Given the description of an element on the screen output the (x, y) to click on. 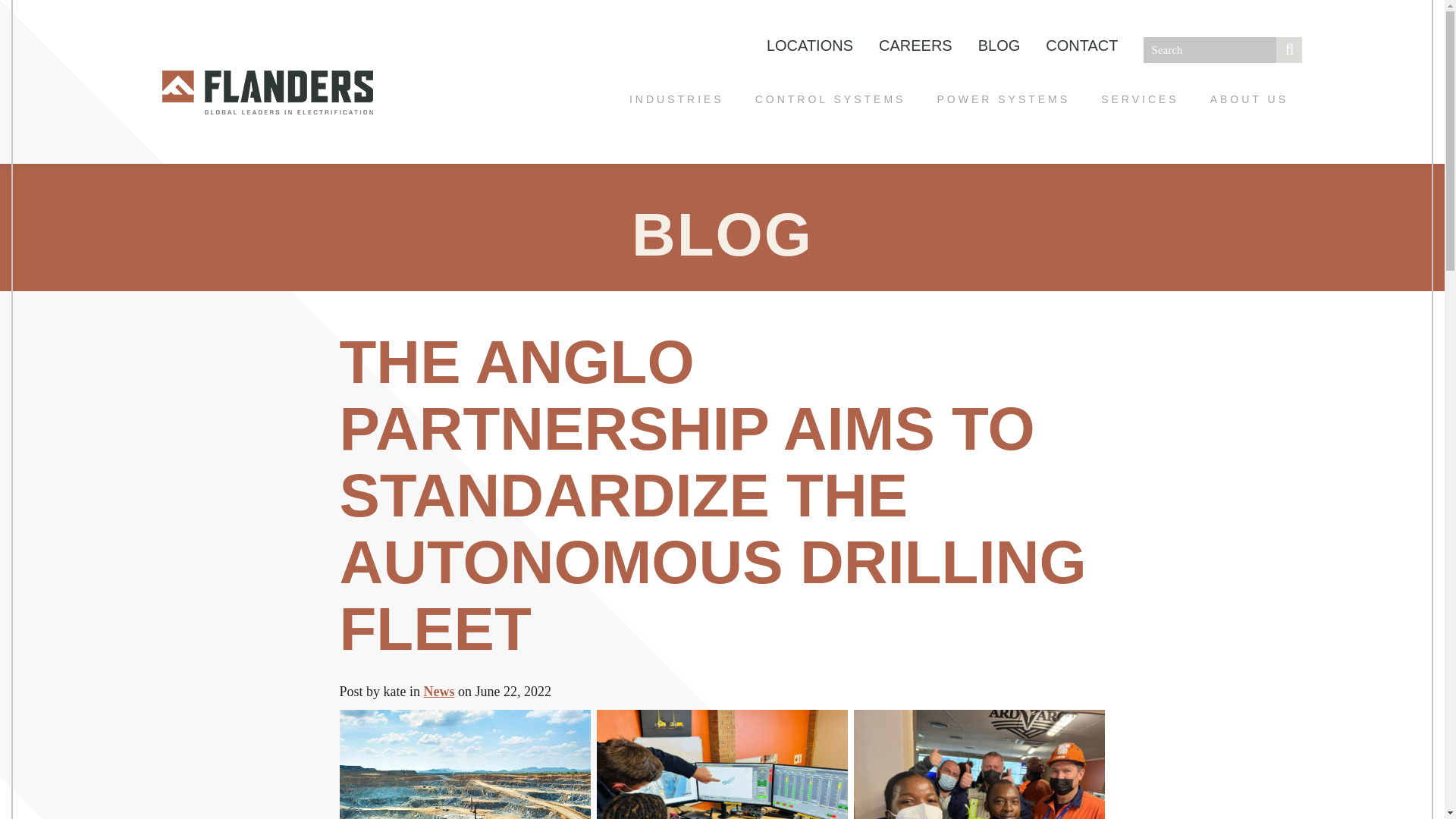
CAREERS (915, 45)
Search for: (1221, 49)
LOCATIONS (809, 45)
